Given the description of an element on the screen output the (x, y) to click on. 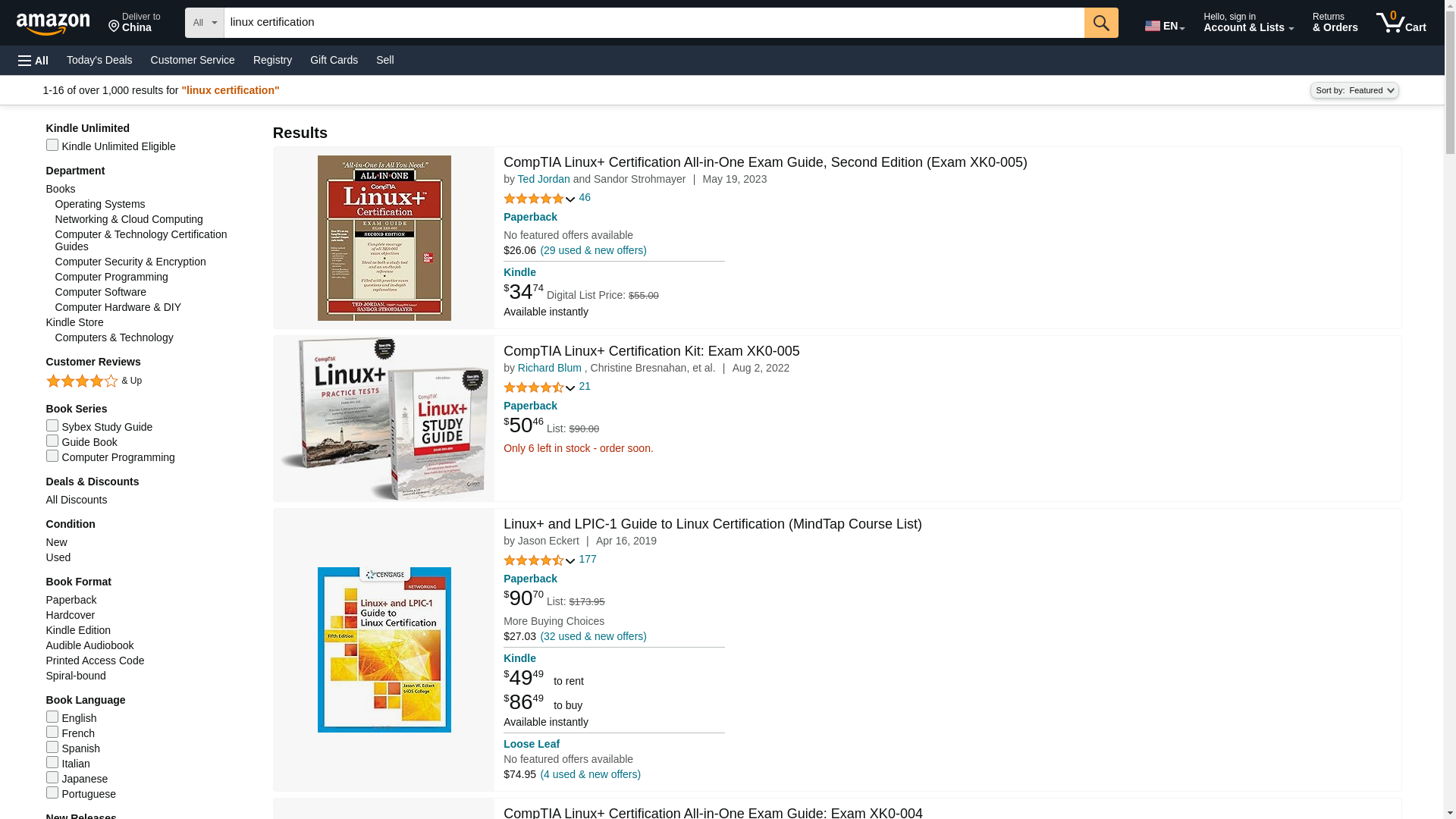
Skip to main content (60, 21)
EN (1163, 22)
Gift Cards (333, 59)
Customer Service (1401, 22)
Registry (192, 59)
Go (272, 59)
linux certification (1101, 22)
Sell (654, 22)
46 (134, 22)
All (384, 59)
Ted Jordan (585, 197)
Go (33, 60)
Paperback (544, 178)
